Given the description of an element on the screen output the (x, y) to click on. 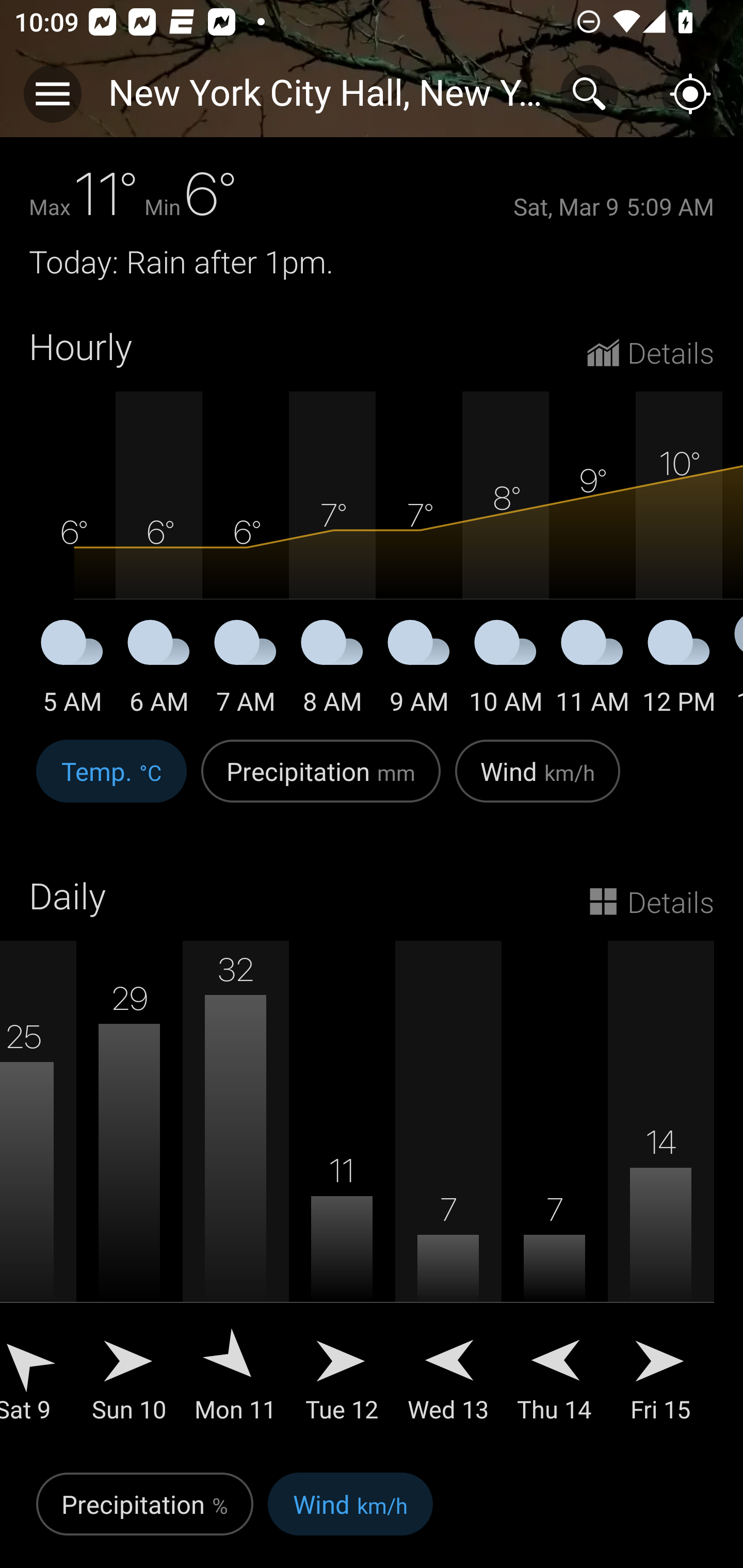
Severe Weather Alerts Gale Watch  (371, 103)
5 AM 6 AM 7 AM 8 AM 9 AM 10 AM 11 AM 12 PM 1 PM (371, 554)
5 AM (71, 670)
6 AM (158, 670)
7 AM (245, 670)
8 AM (332, 670)
9 AM (418, 670)
10 AM (505, 670)
11 AM (592, 670)
12 PM (679, 670)
Temp. °C (110, 781)
Precipitation mm (320, 781)
Wind km/h (537, 781)
25  Sat 9 (38, 1195)
29  Sun 10 (129, 1195)
32  Mon 11 (235, 1195)
11  Tue 12 (342, 1195)
7  Wed 13 (448, 1195)
7  Thu 14 (554, 1195)
14  Fri 15 (660, 1195)
Precipitation % (144, 1515)
Wind km/h (349, 1515)
